Given the description of an element on the screen output the (x, y) to click on. 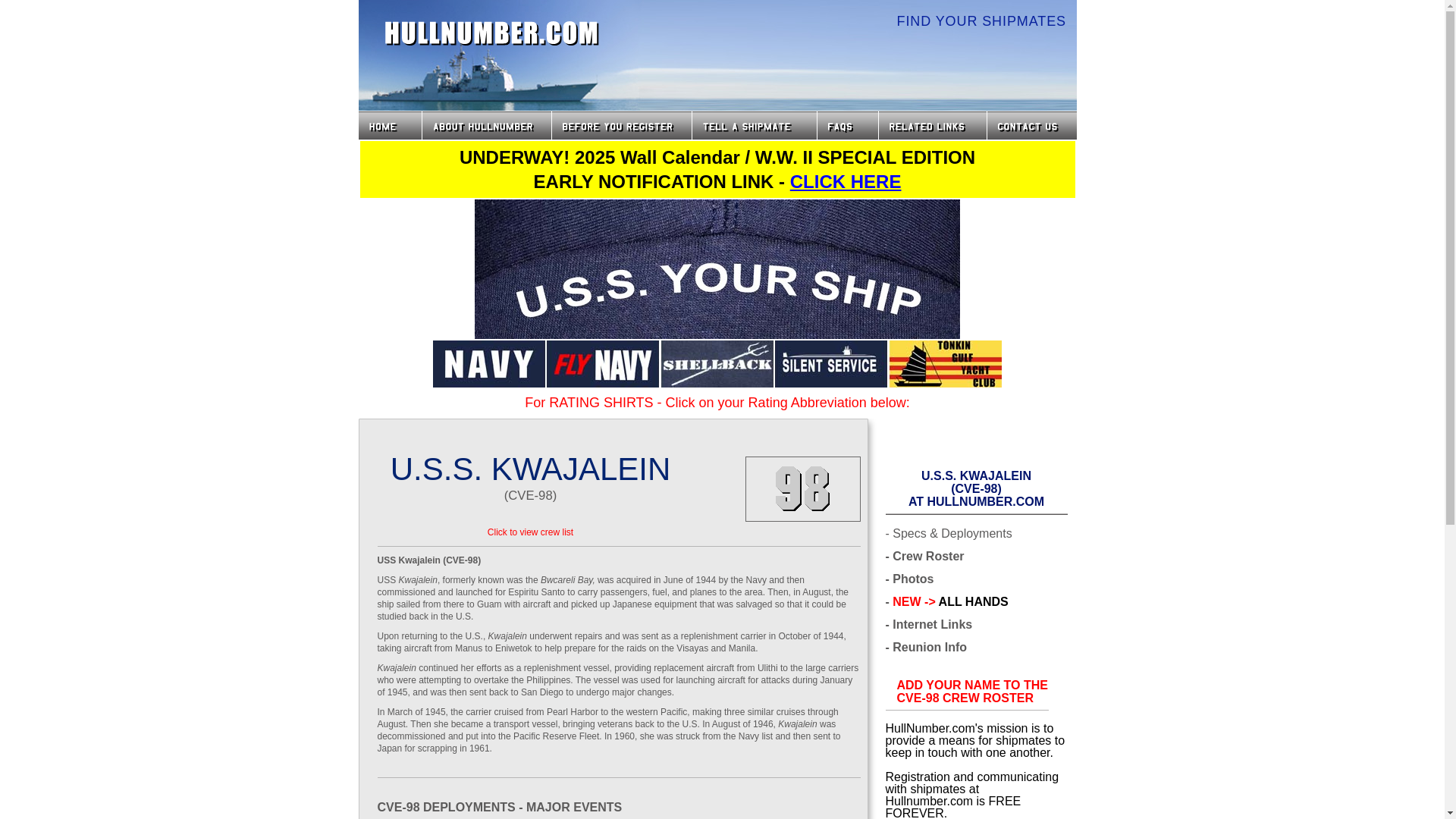
Tell a Shipmate (753, 125)
FAQs (846, 125)
- Crew Roster (924, 556)
Related Links (931, 125)
Contact Us (1033, 125)
About HullNumber (971, 691)
Home (486, 125)
Before you Register (389, 125)
HullNumber.com (621, 125)
- Reunion Info (491, 33)
- Photos (926, 647)
Click to view crew list (909, 579)
- Internet Links (530, 532)
